Given the description of an element on the screen output the (x, y) to click on. 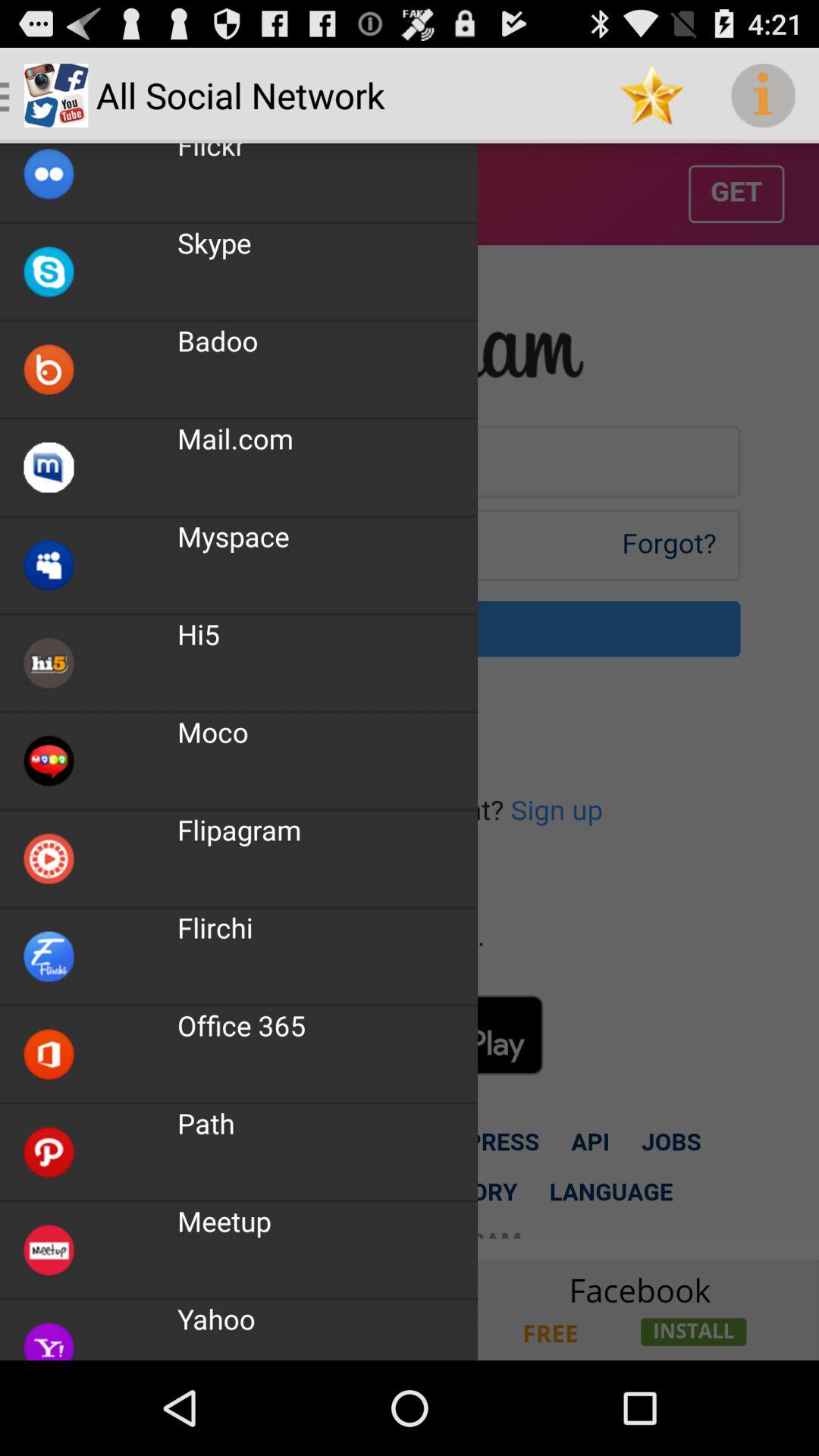
click the app below the moco (239, 829)
